Given the description of an element on the screen output the (x, y) to click on. 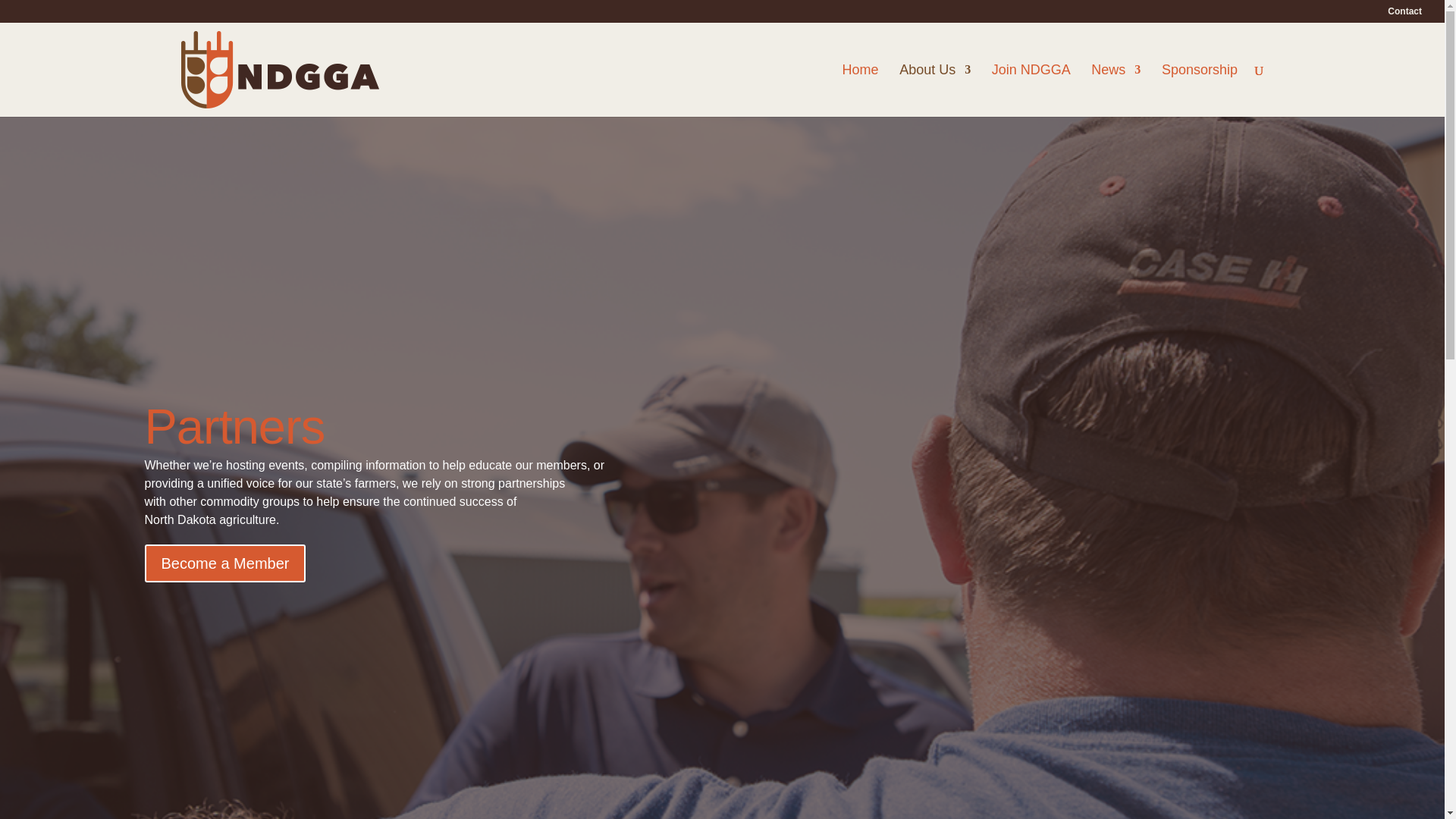
Contact (1404, 14)
News (1115, 90)
About Us (935, 90)
Join NDGGA (1030, 90)
Sponsorship (1199, 90)
Become a Member (224, 563)
